Given the description of an element on the screen output the (x, y) to click on. 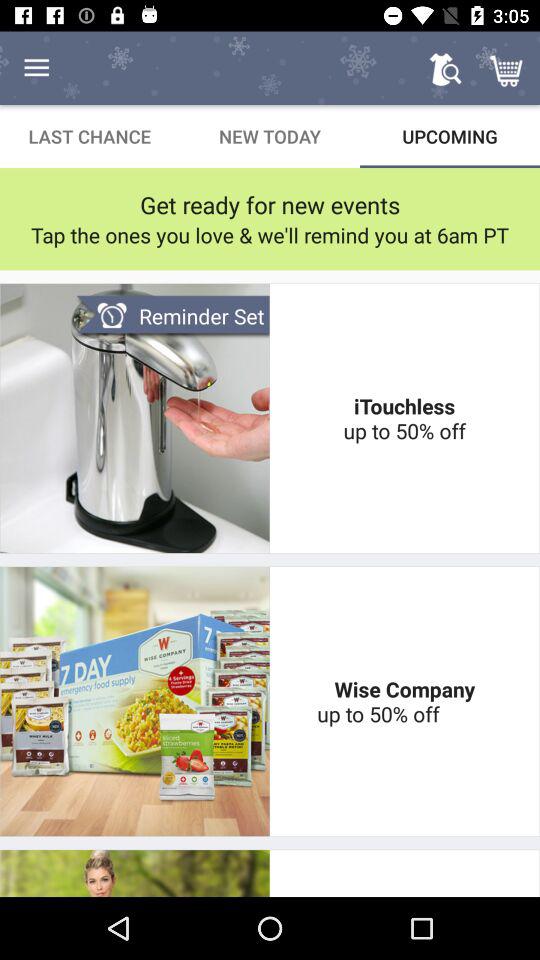
swipe to the wise company up (404, 701)
